Given the description of an element on the screen output the (x, y) to click on. 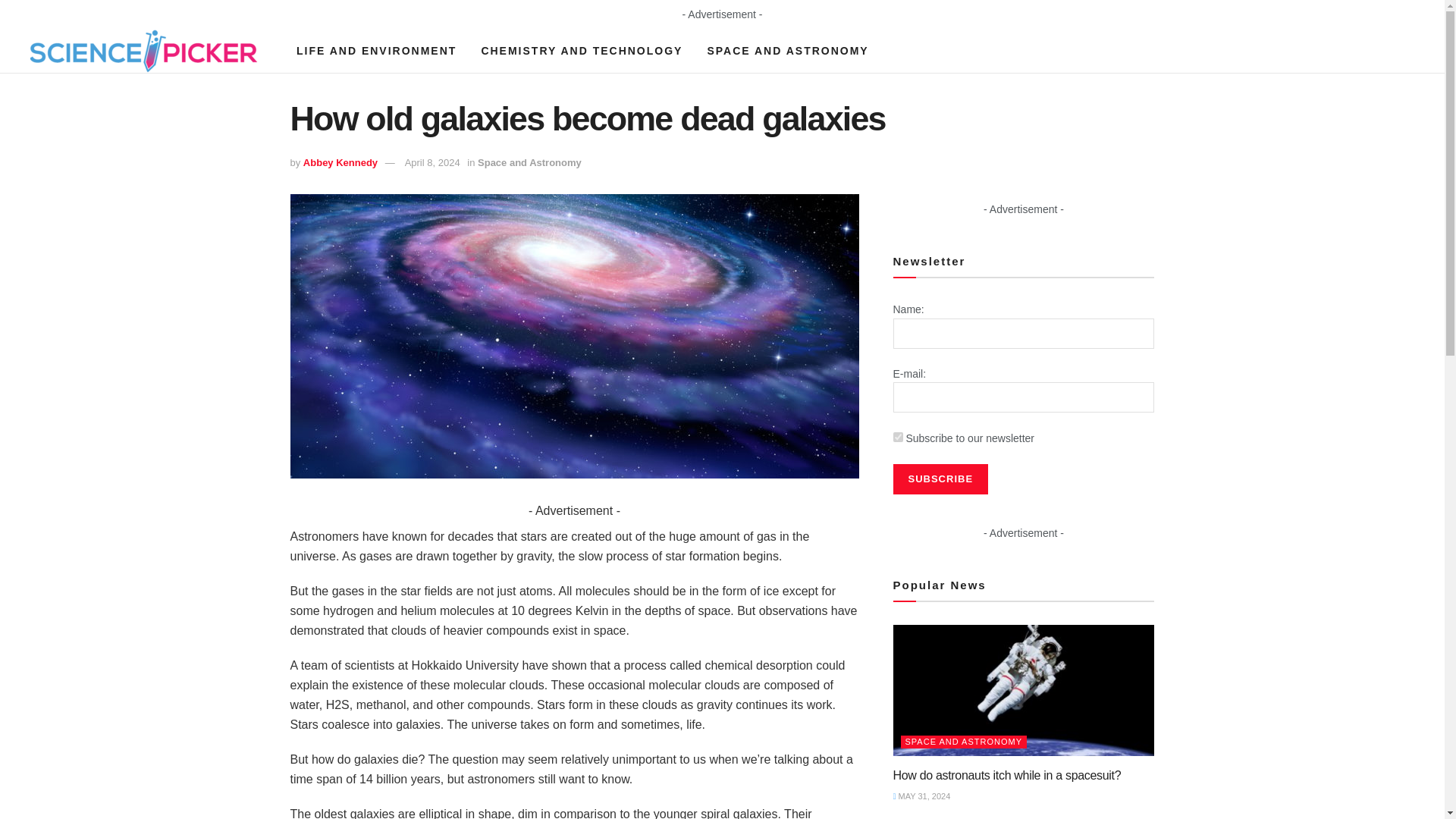
box (897, 437)
How do astronauts itch while in a spacesuit? (1007, 775)
CHEMISTRY AND TECHNOLOGY (581, 50)
April 8, 2024 (432, 162)
MAY 31, 2024 (921, 795)
Subscribe (940, 479)
SPACE AND ASTRONOMY (964, 741)
SPACE AND ASTRONOMY (787, 50)
Subscribe (940, 479)
Space and Astronomy (528, 162)
LIFE AND ENVIRONMENT (375, 50)
Abbey Kennedy (339, 162)
